Given the description of an element on the screen output the (x, y) to click on. 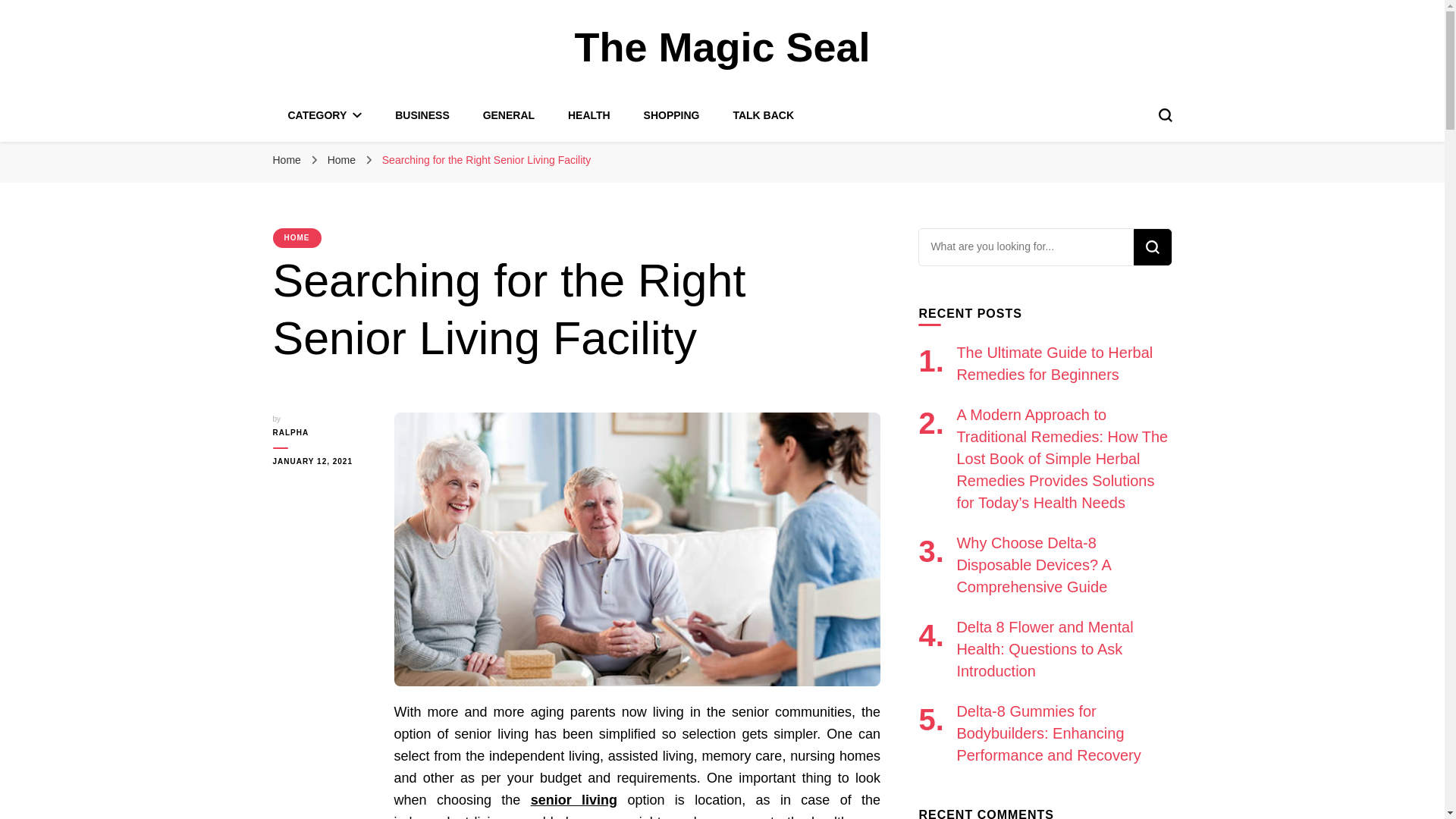
Searching for the Right Senior Living Facility (486, 159)
HOME (297, 238)
Home (342, 159)
The Magic Seal (721, 46)
TALK BACK (762, 114)
GENERAL (508, 114)
BUSINESS (421, 114)
HEALTH (588, 114)
Search (1151, 247)
RALPHA (322, 432)
